Given the description of an element on the screen output the (x, y) to click on. 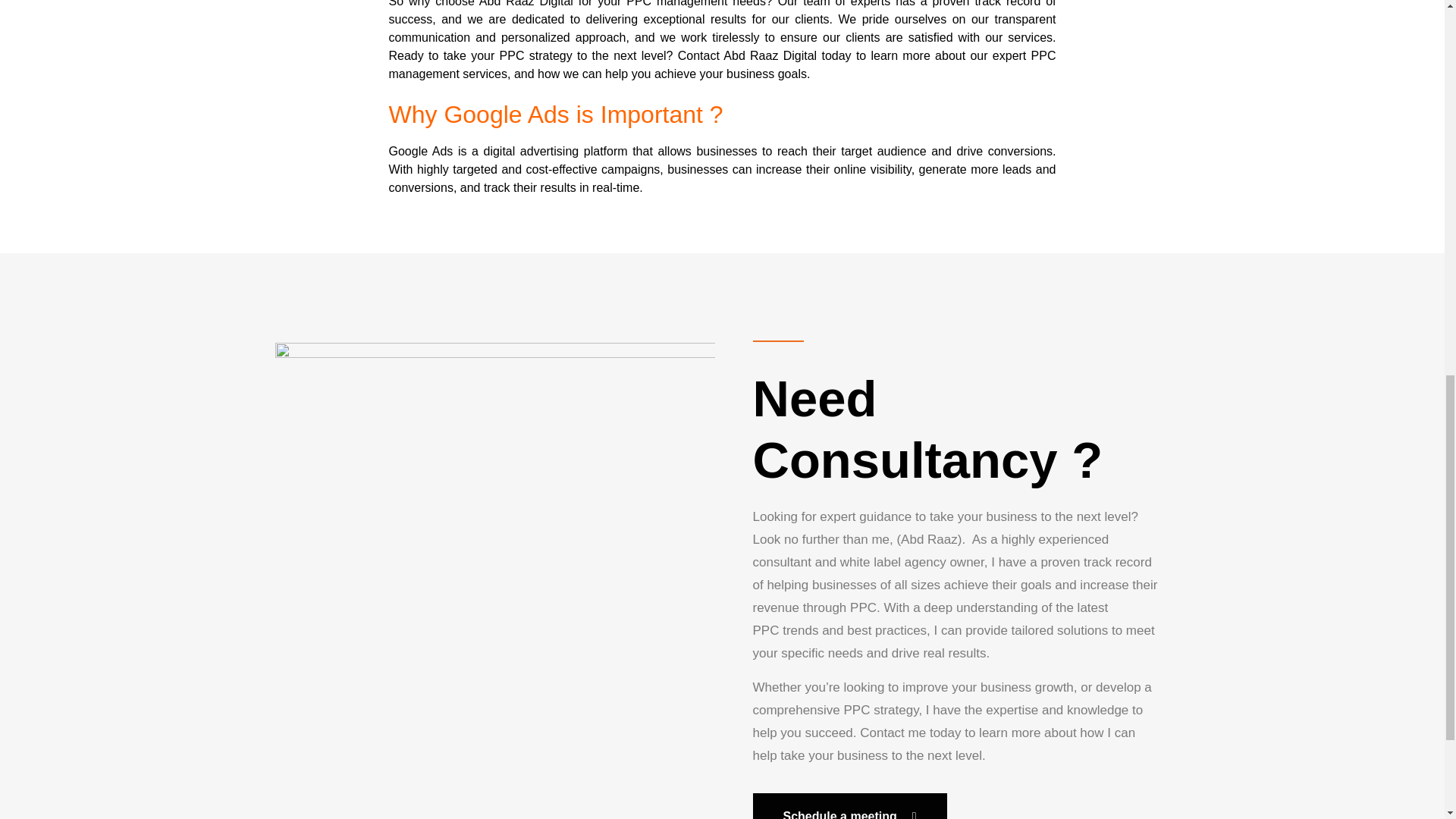
Schedule a meeting (849, 806)
